Given the description of an element on the screen output the (x, y) to click on. 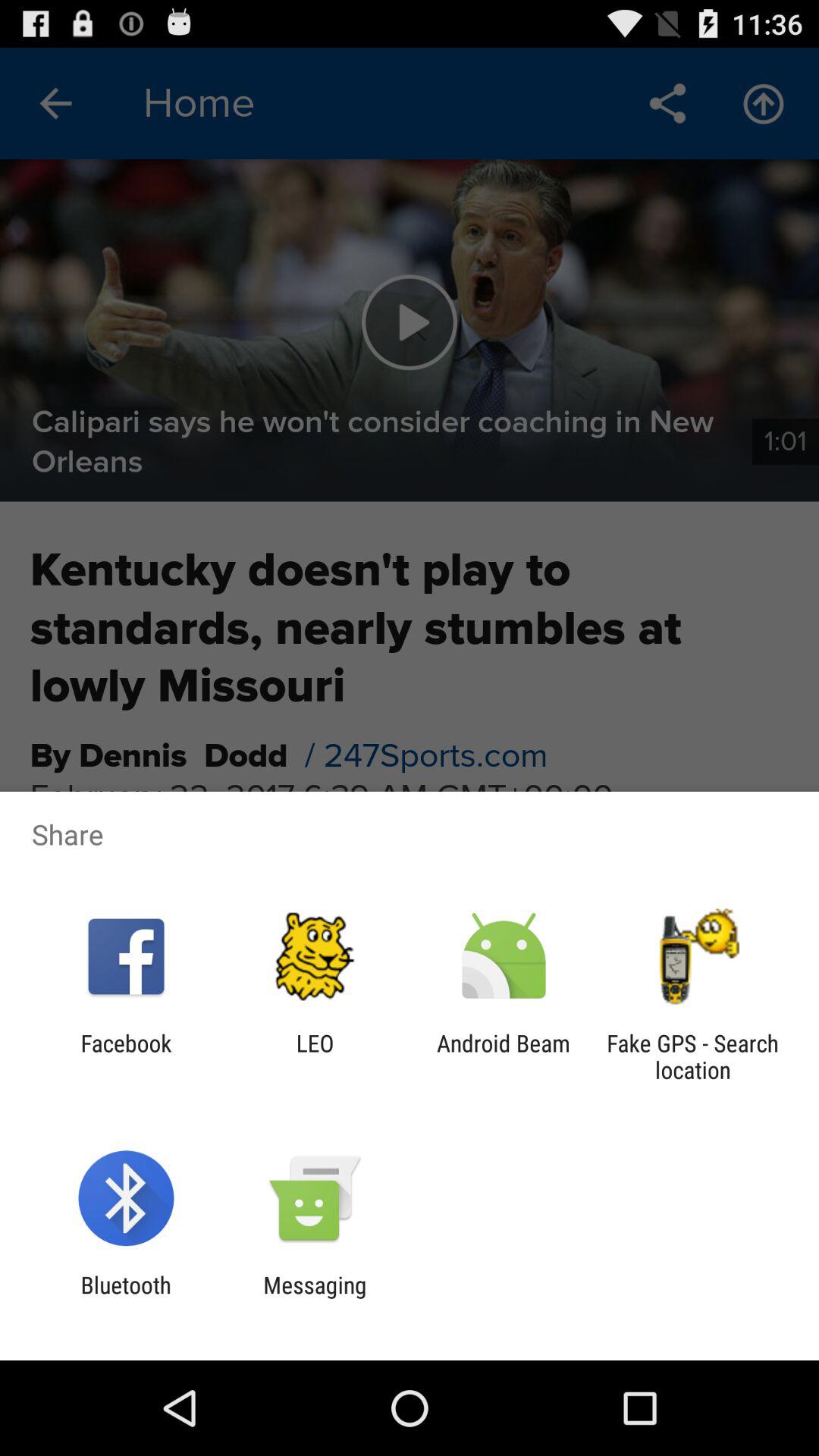
select leo icon (314, 1056)
